Given the description of an element on the screen output the (x, y) to click on. 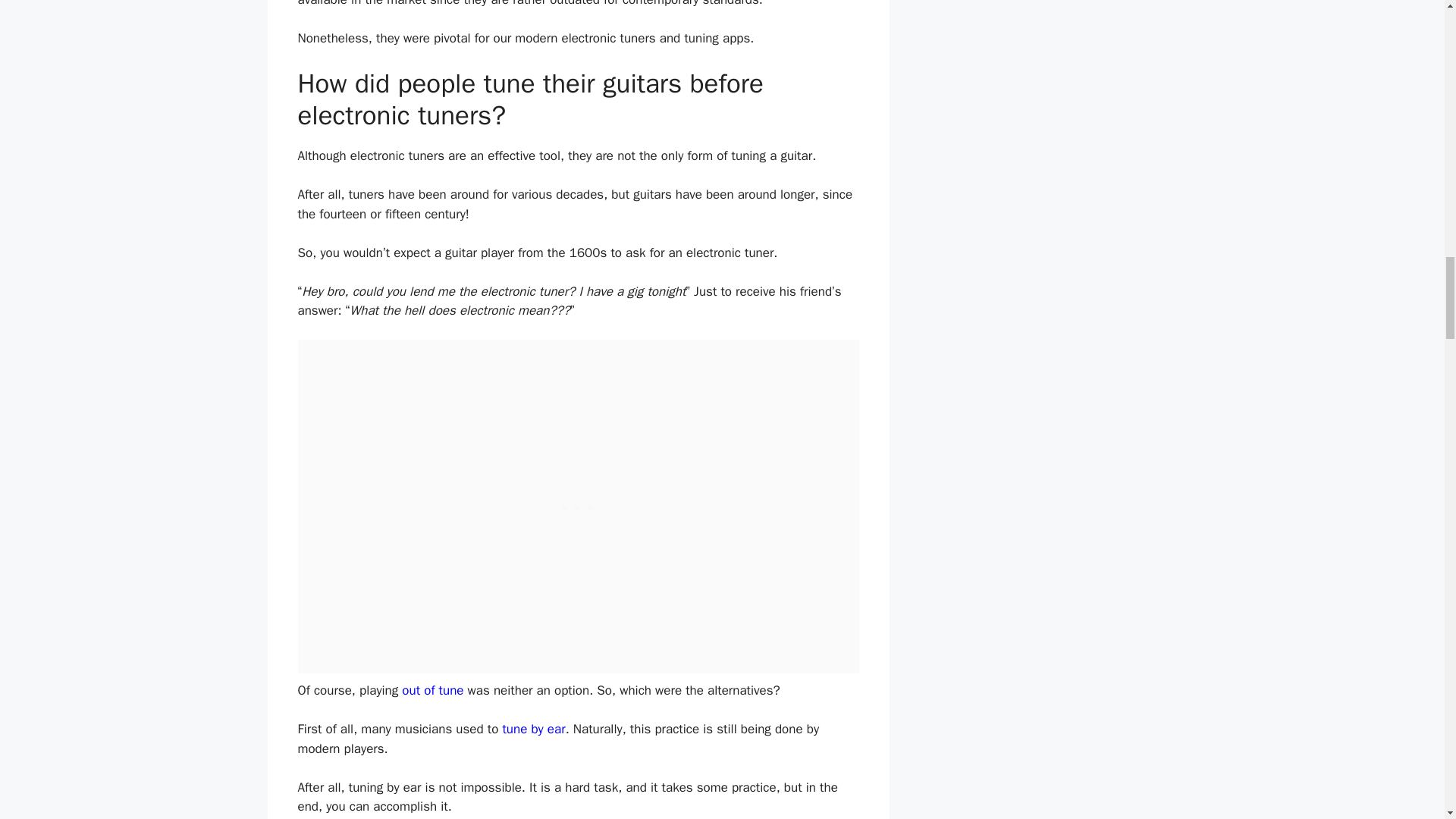
tune by ear (533, 729)
out of tune (432, 690)
